Given the description of an element on the screen output the (x, y) to click on. 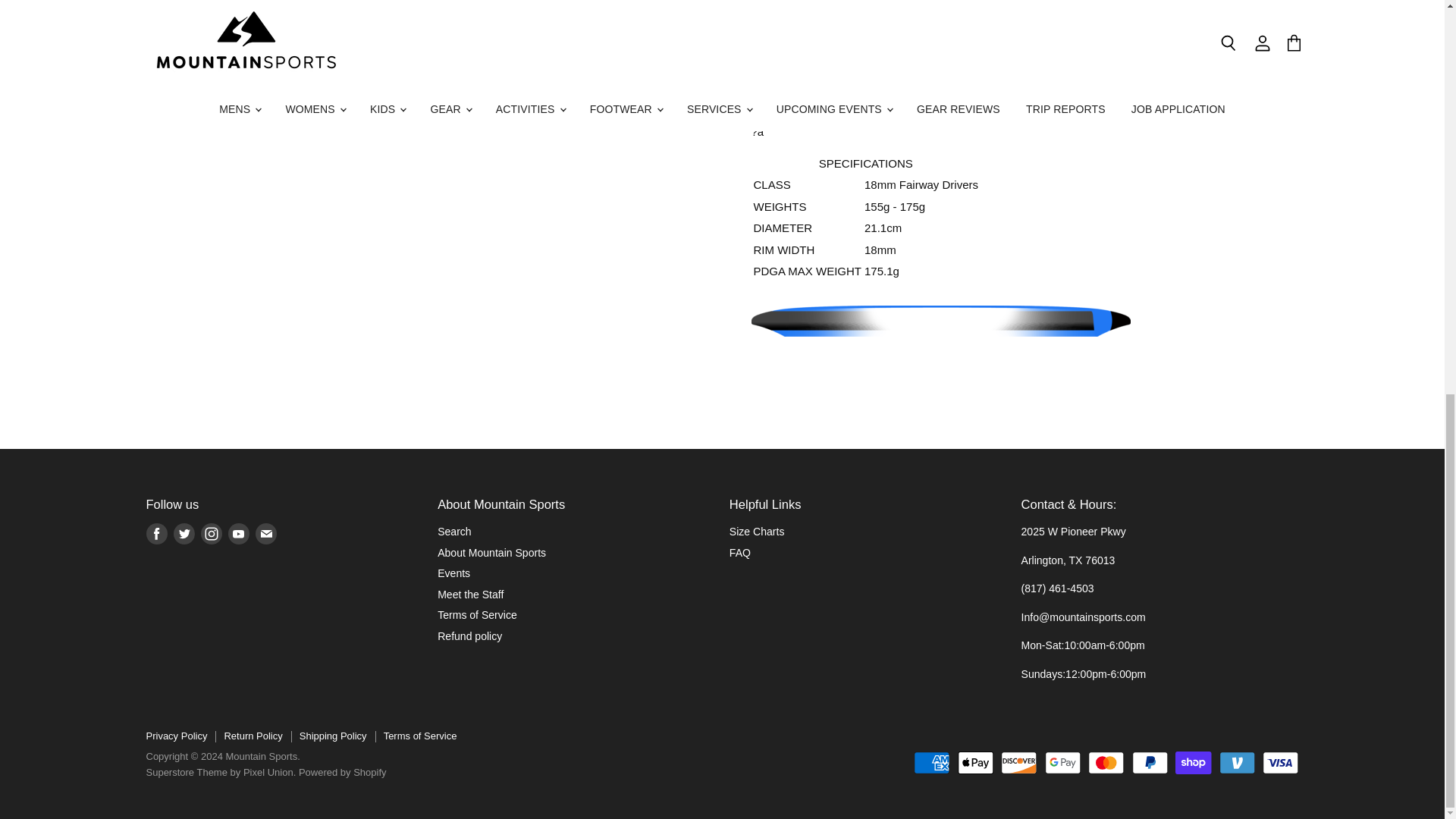
Youtube (237, 533)
Instagram (210, 533)
Facebook (156, 533)
E-mail (265, 533)
Twitter (183, 533)
